Given the description of an element on the screen output the (x, y) to click on. 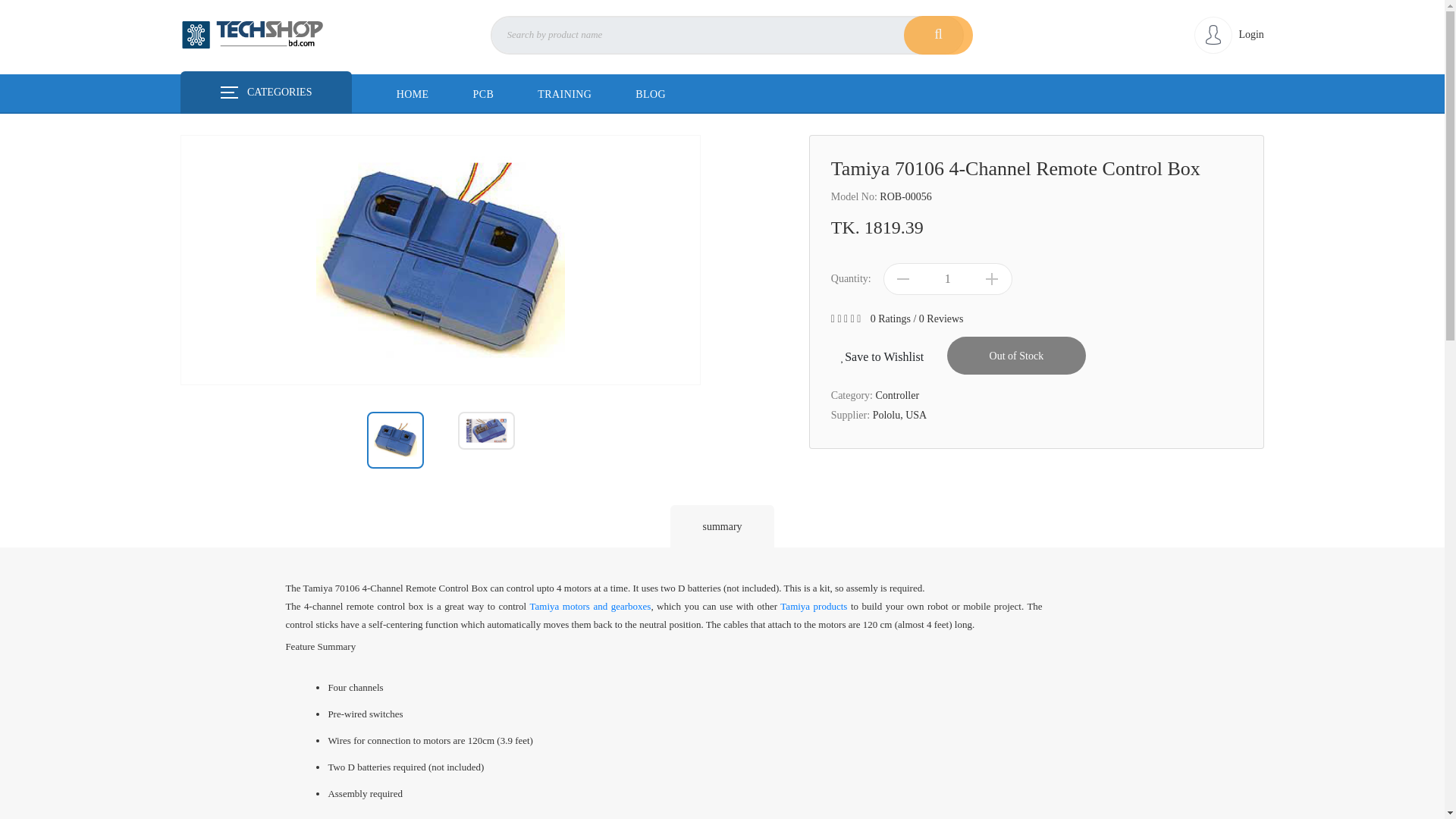
CATEGORIES (266, 92)
Login (1228, 34)
1 (947, 278)
